Given the description of an element on the screen output the (x, y) to click on. 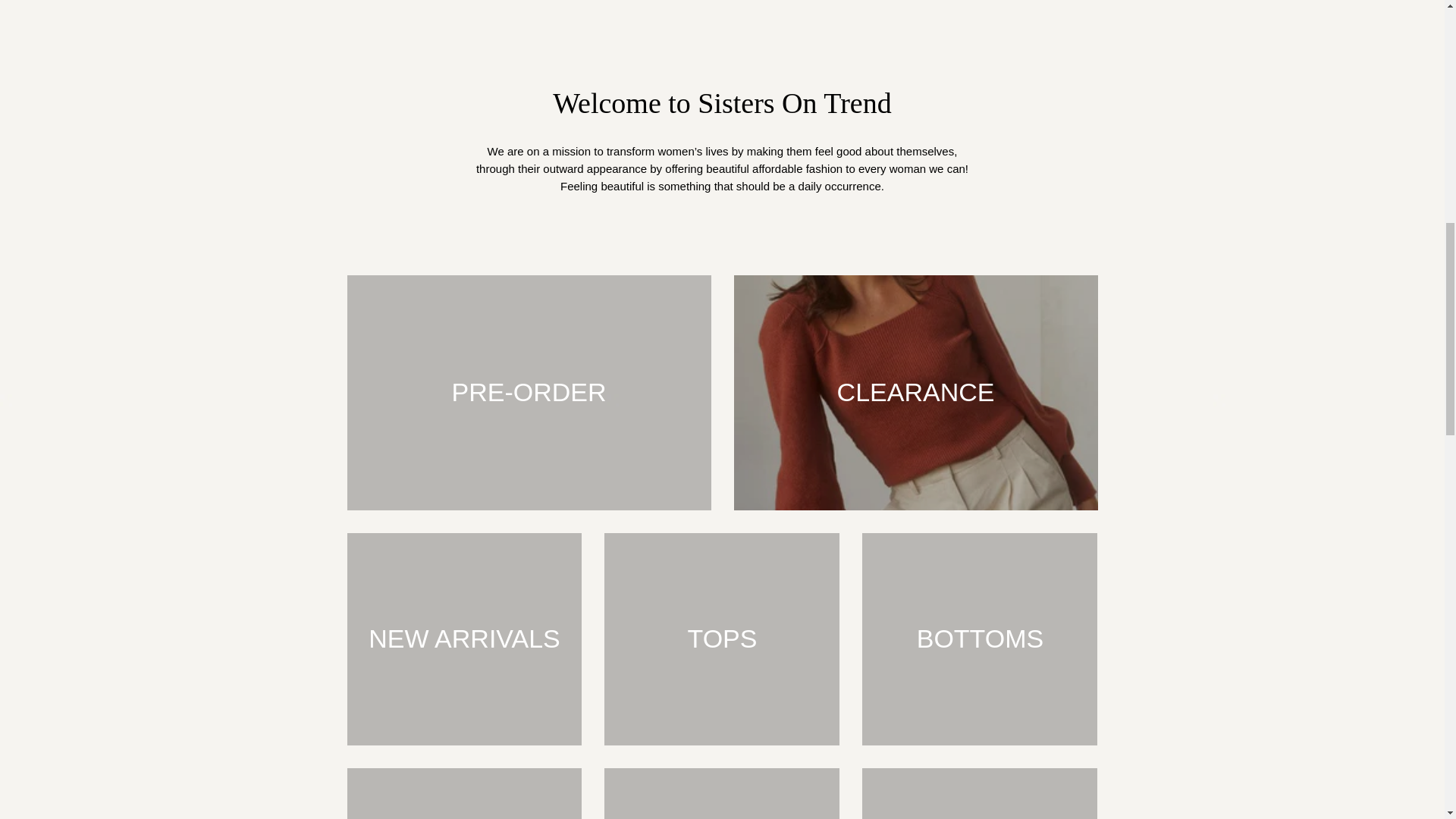
CLEARANCE (915, 392)
Accessories (979, 793)
OUTERWEAR (464, 793)
TOPS (722, 639)
ATHLEISURE (722, 793)
BOTTOMS (979, 639)
NEW ARRIVALS (464, 639)
PRE-ORDER (529, 392)
